Given the description of an element on the screen output the (x, y) to click on. 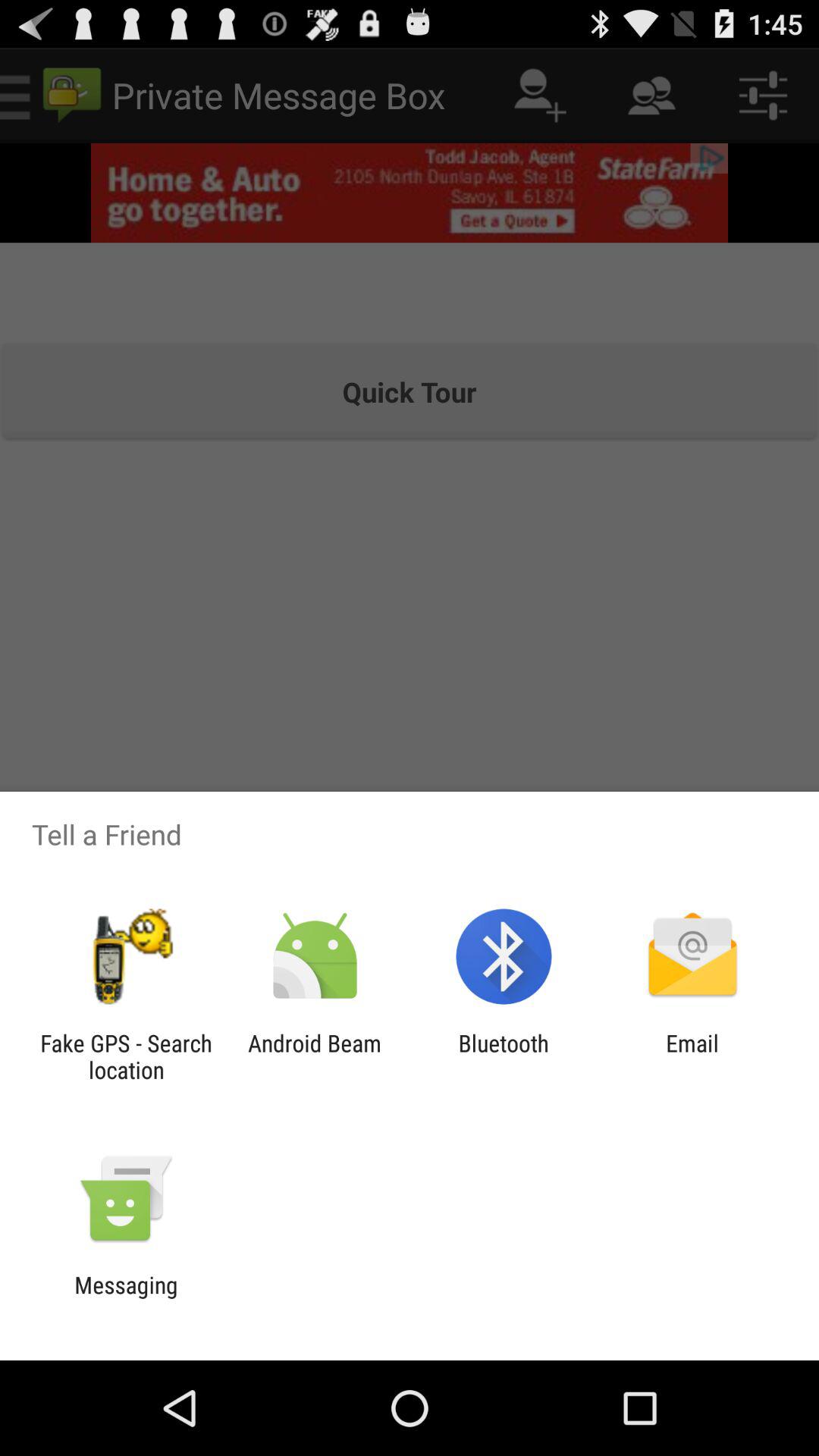
press the icon to the left of the android beam icon (125, 1056)
